Given the description of an element on the screen output the (x, y) to click on. 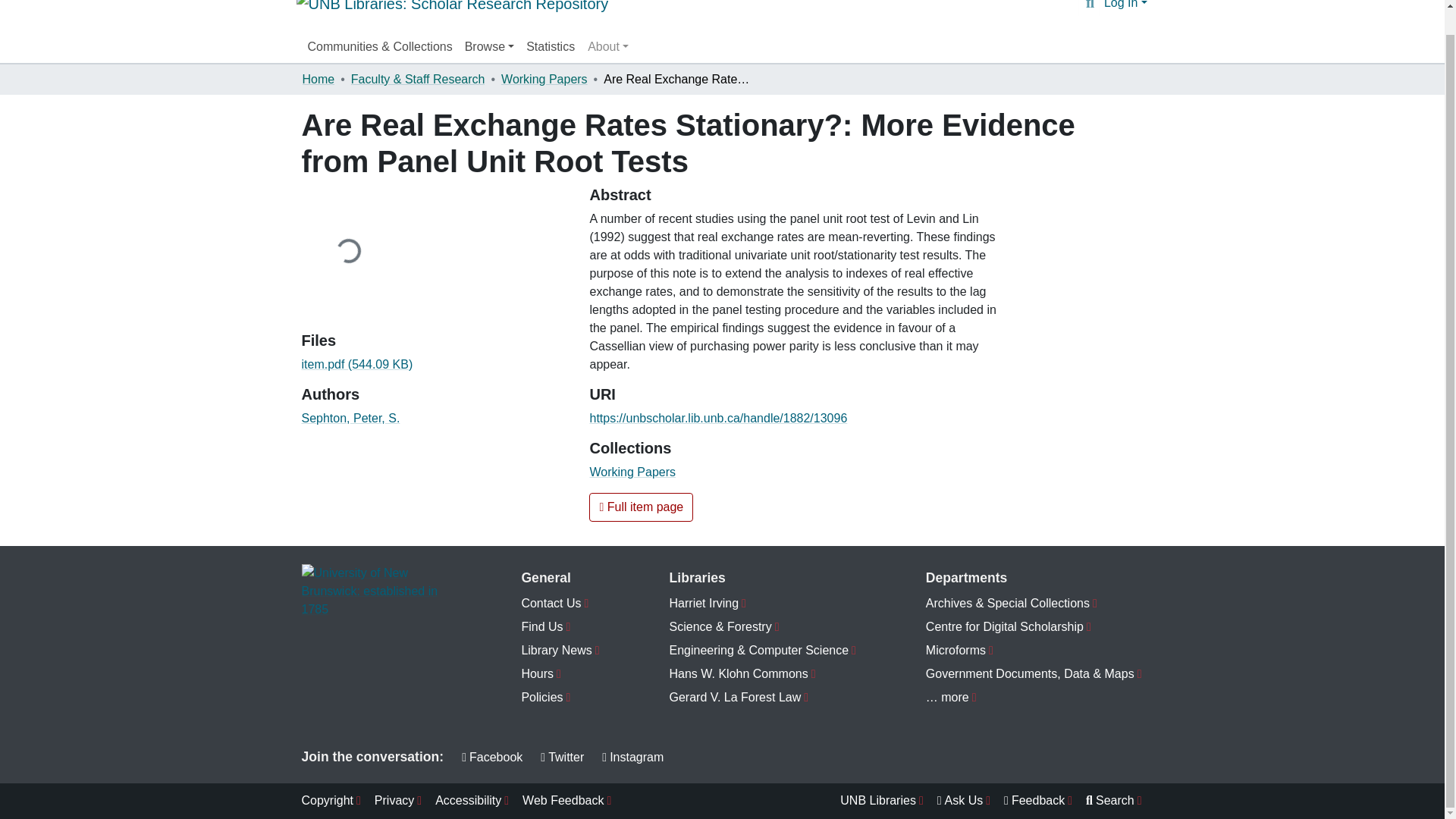
Facebook (491, 757)
Contact Us (560, 603)
Gerard V. La Forest Law (763, 698)
Working Papers (632, 472)
Hans W. Klohn Commons (763, 674)
Search (1089, 6)
Statistics (549, 46)
Statistics (549, 46)
About (607, 47)
Twitter (561, 757)
